Given the description of an element on the screen output the (x, y) to click on. 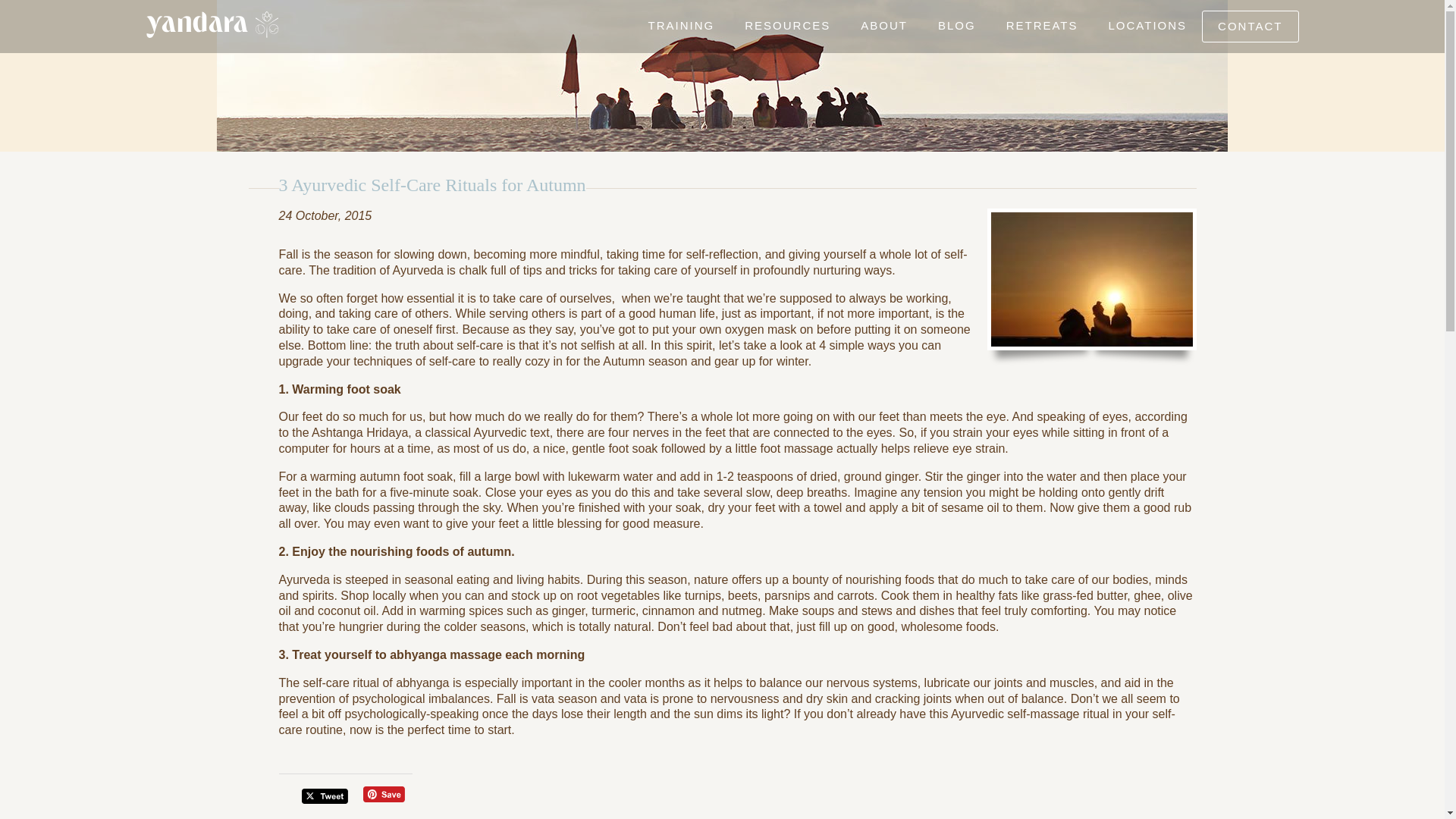
ABOUT (884, 25)
RESOURCES (787, 25)
TRAINING (681, 25)
Pin Share (383, 794)
Tweet (325, 796)
